Given the description of an element on the screen output the (x, y) to click on. 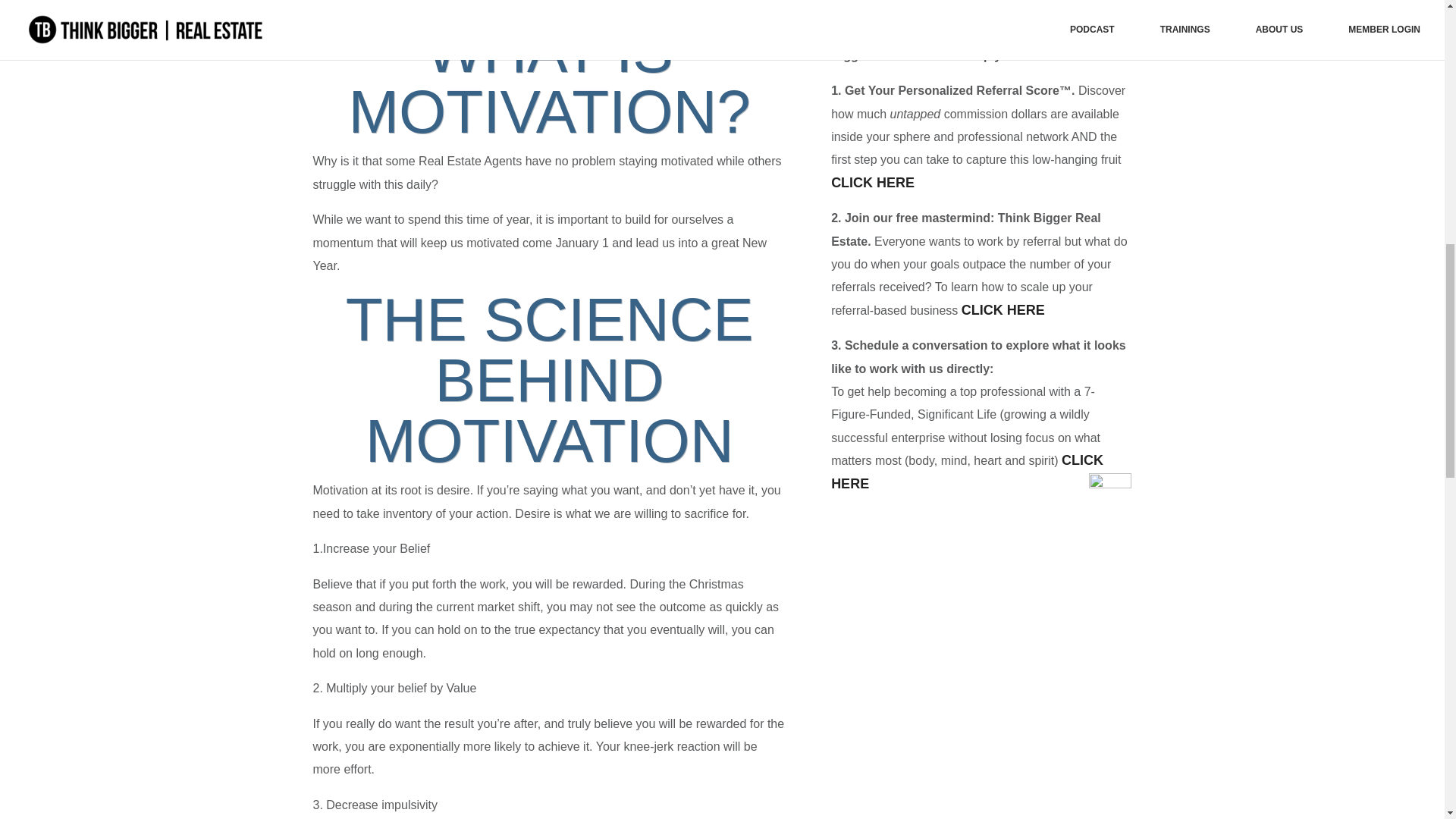
CLICK HERE (872, 182)
CLICK HERE (967, 471)
CLICK HERE (1002, 309)
